Given the description of an element on the screen output the (x, y) to click on. 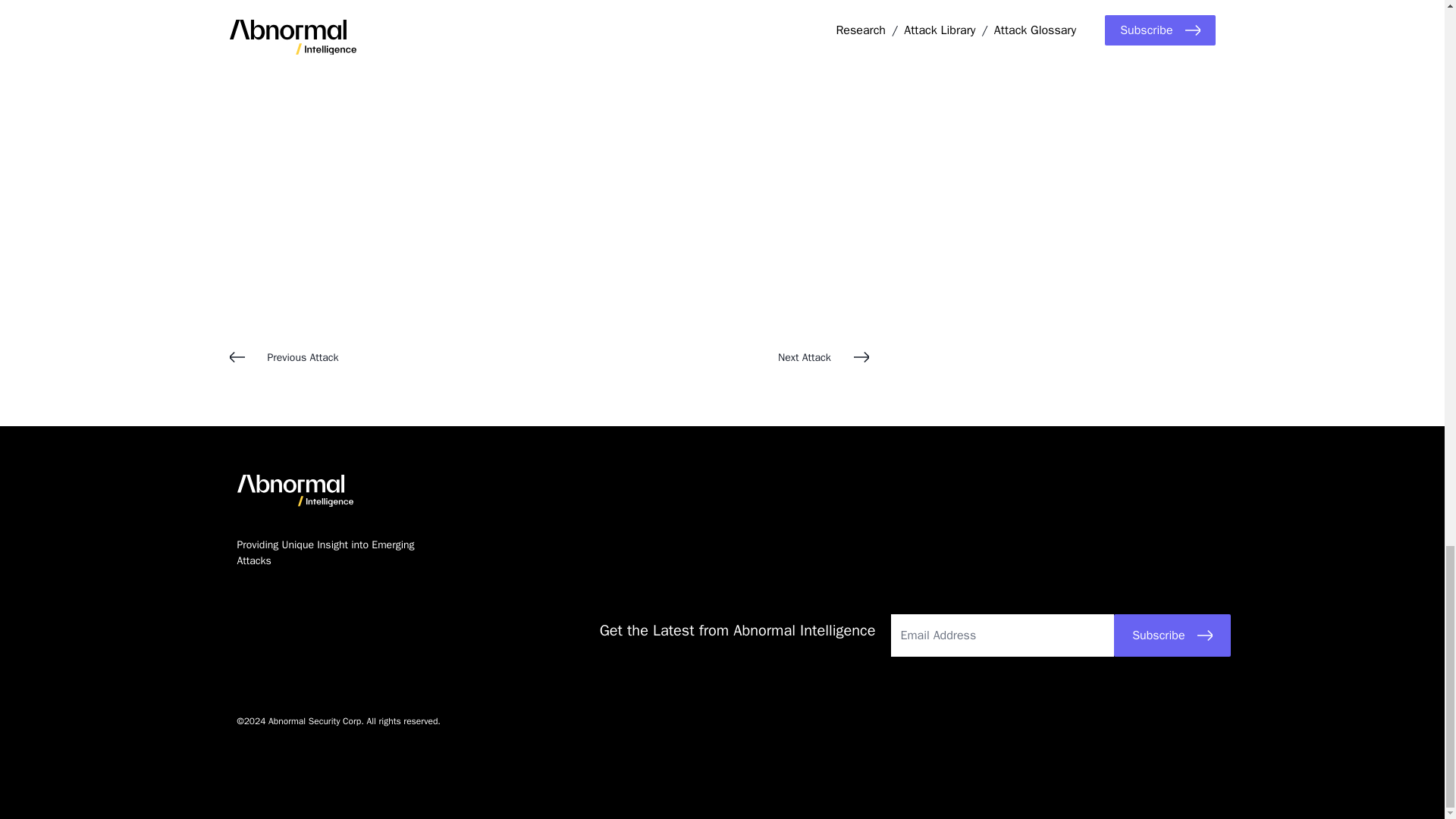
Previous Attack (388, 357)
Subscribe (1171, 635)
Next Attack (708, 357)
